Given the description of an element on the screen output the (x, y) to click on. 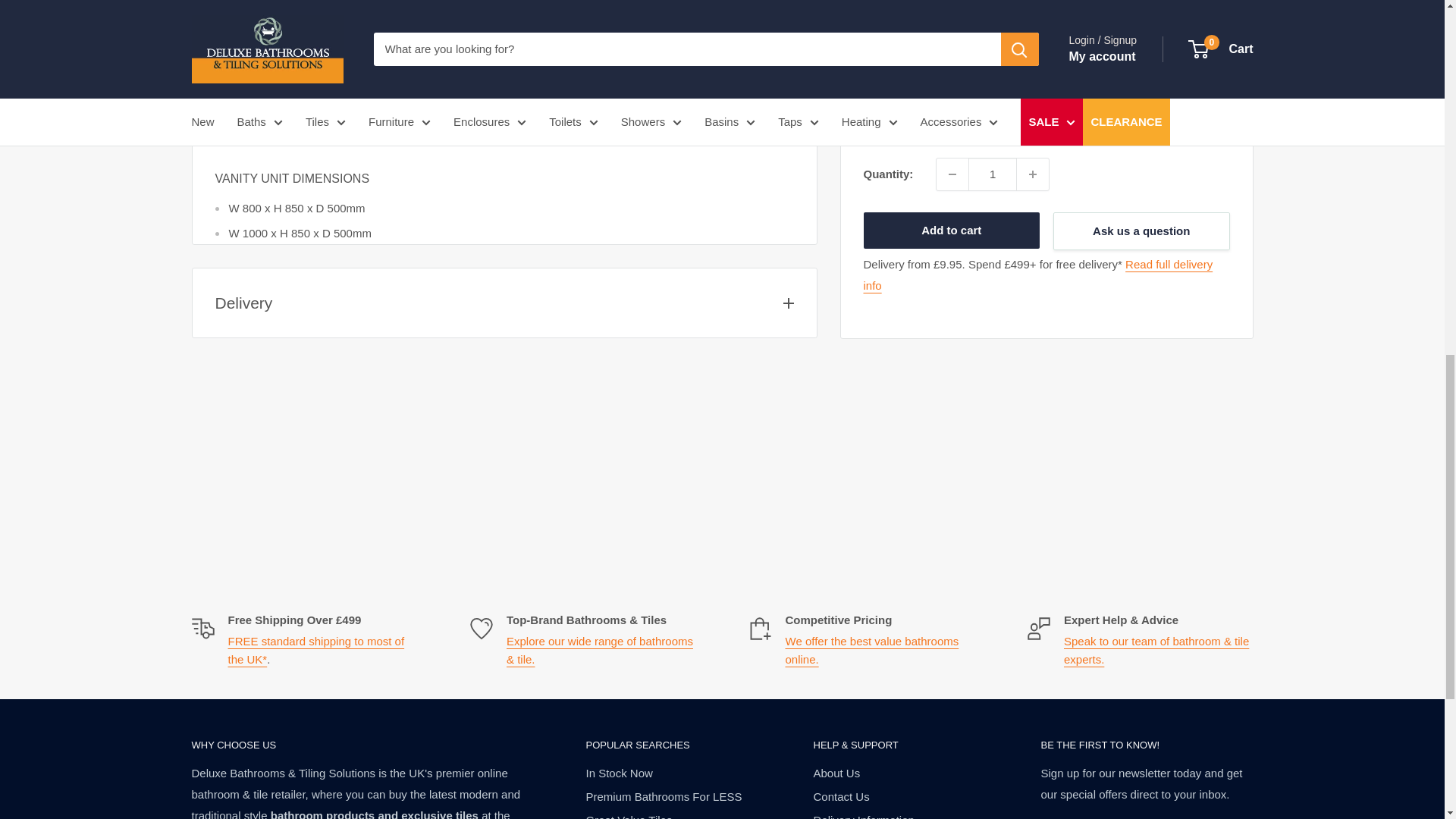
Delivery (1037, 2)
We offer the best value bathrooms online. (872, 649)
Delivery Information (315, 649)
Contact Deluxe Bathrooms (1156, 649)
